Given the description of an element on the screen output the (x, y) to click on. 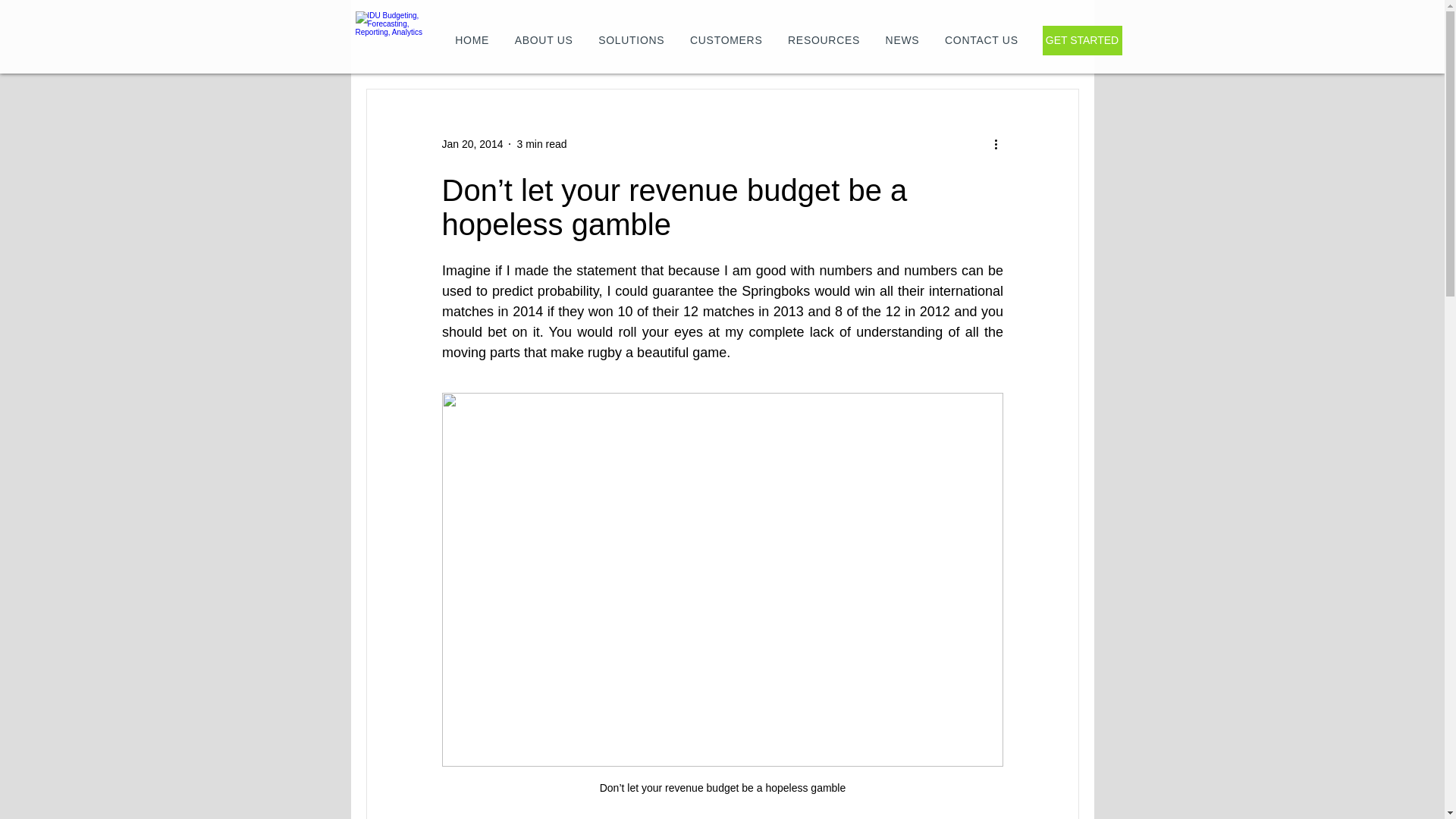
NEWS (901, 39)
CUSTOMERS (725, 39)
HOME (472, 39)
CONTACT US (980, 39)
Jan 20, 2014 (471, 143)
ABOUT US (544, 39)
3 min read (541, 143)
SOLUTIONS (631, 39)
